Given the description of an element on the screen output the (x, y) to click on. 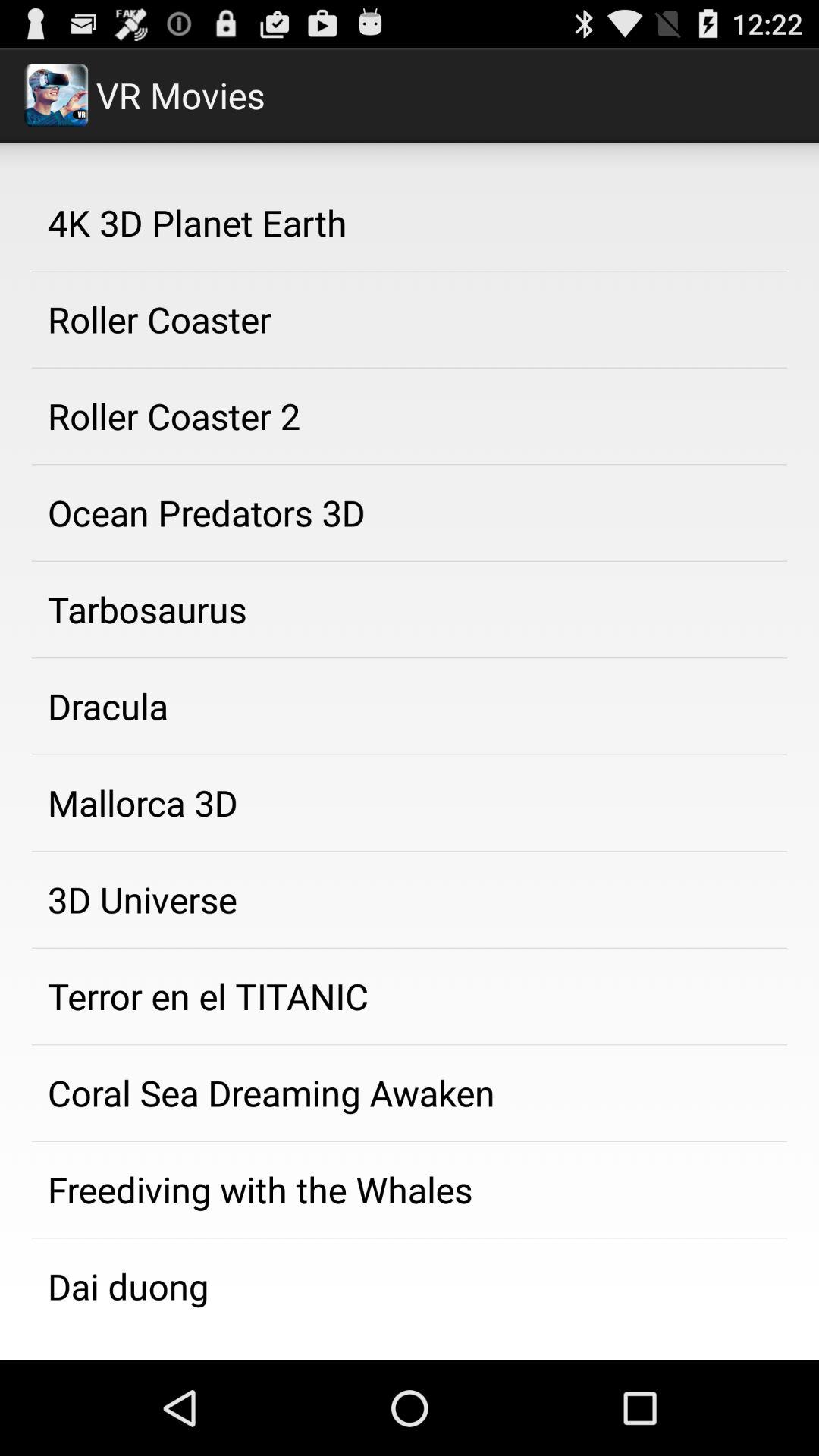
select the coral sea dreaming icon (409, 1092)
